Given the description of an element on the screen output the (x, y) to click on. 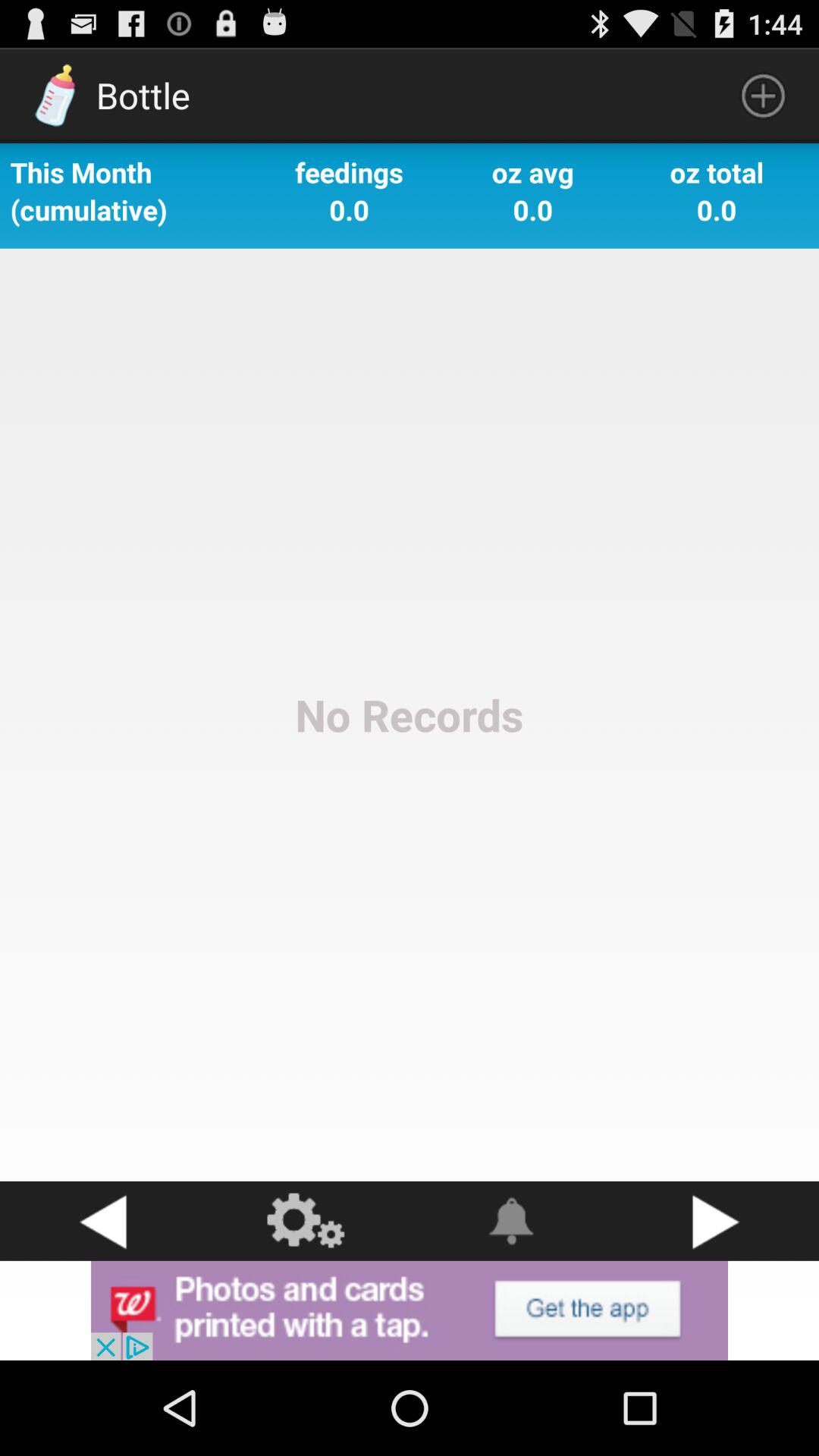
go to back (102, 1220)
